Given the description of an element on the screen output the (x, y) to click on. 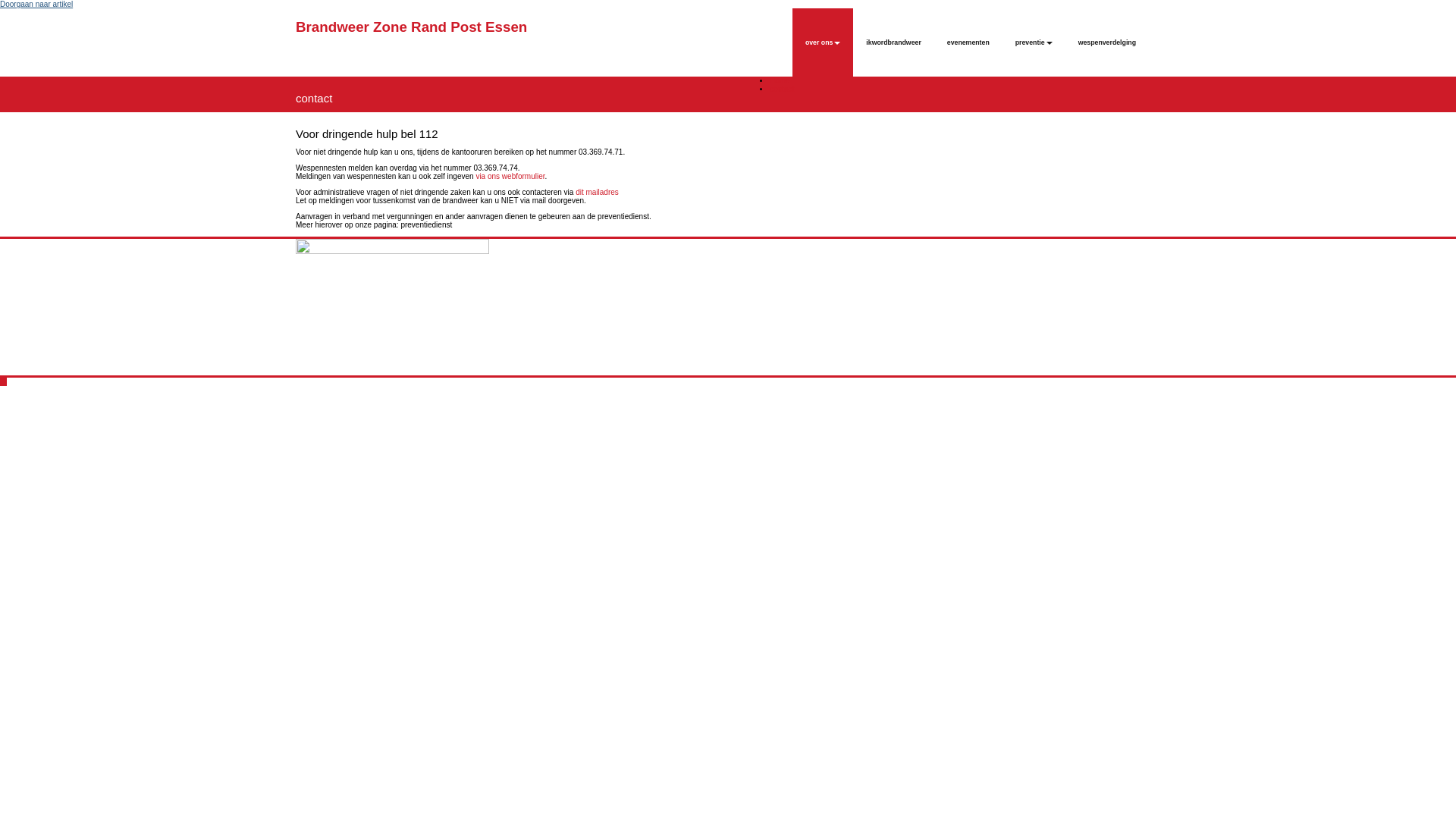
wespenverdelging Element type: text (1106, 42)
dit mailadres Element type: text (596, 192)
Brandweer Zone Rand Post Essen Element type: text (411, 26)
preventie Element type: text (1033, 42)
evenementen Element type: text (968, 42)
via ons webformulier Element type: text (509, 176)
ikwordbrandweer Element type: text (893, 42)
Doorgaan naar artikel Element type: text (36, 4)
contact Element type: text (781, 88)
over ons Element type: text (822, 42)
Home Element type: text (779, 80)
